Given the description of an element on the screen output the (x, y) to click on. 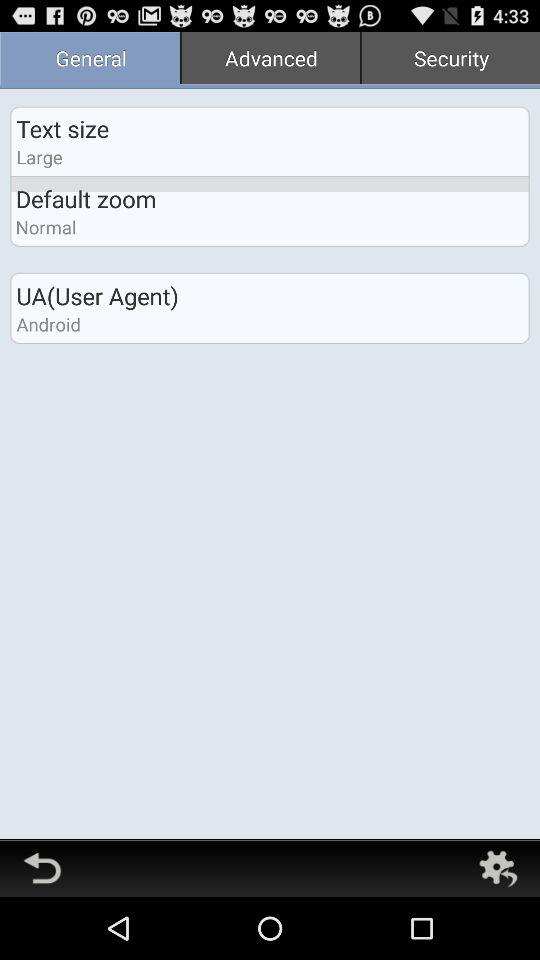
choose the app next to advanced item (450, 60)
